Given the description of an element on the screen output the (x, y) to click on. 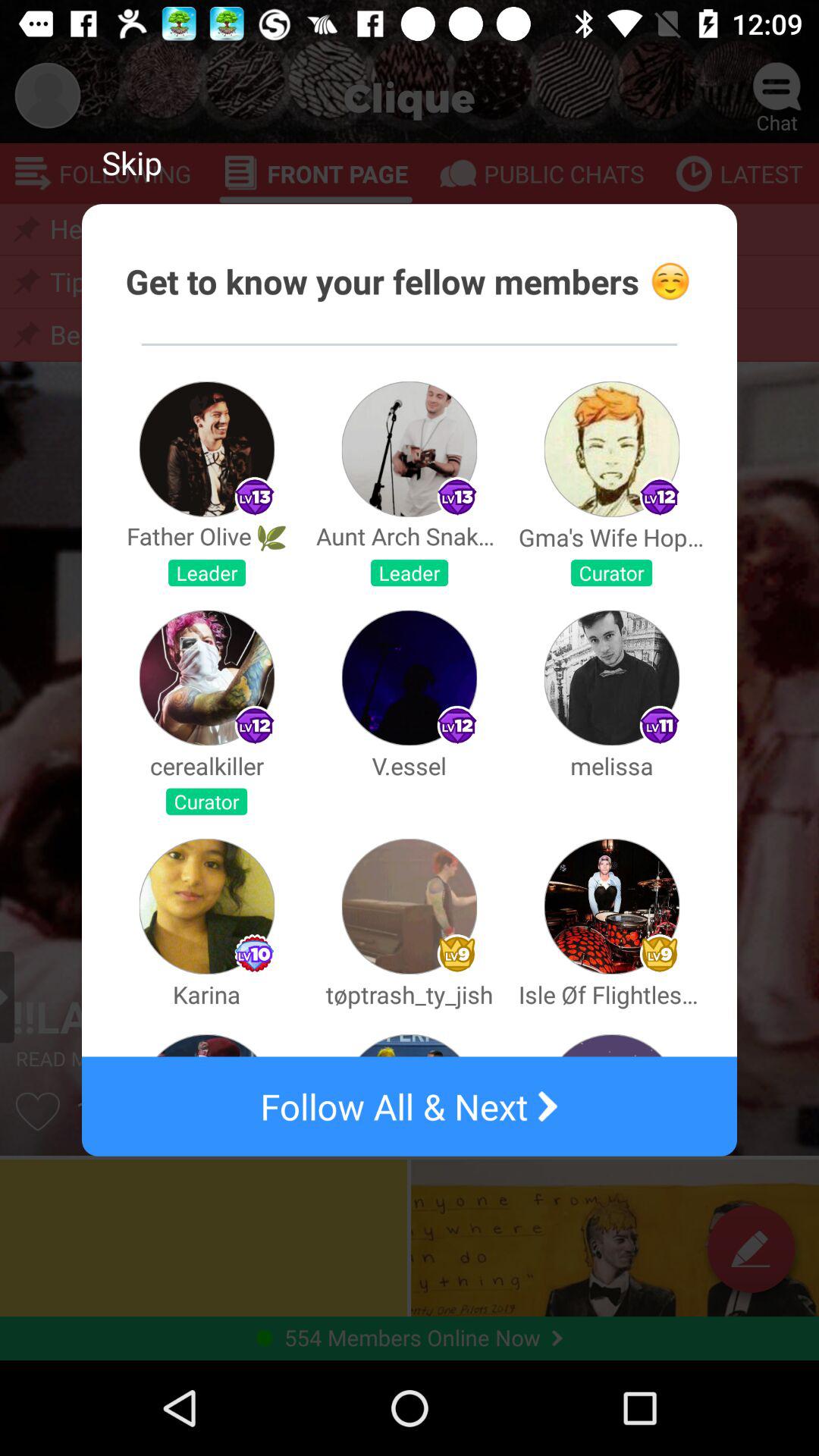
jump until skip icon (131, 162)
